Given the description of an element on the screen output the (x, y) to click on. 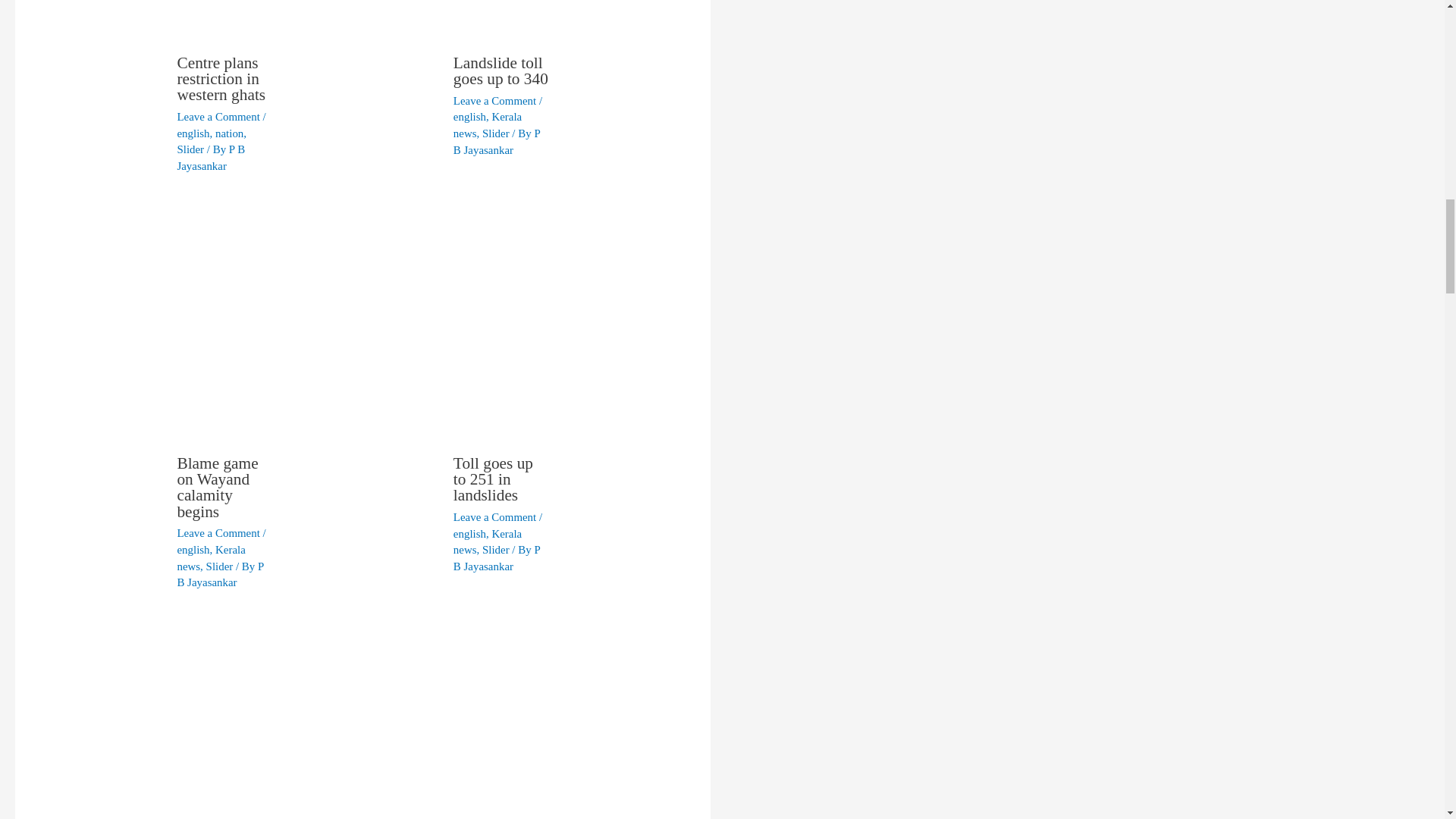
View all posts by P B Jayasankar (219, 574)
View all posts by P B Jayasankar (496, 557)
View all posts by P B Jayasankar (210, 157)
View all posts by P B Jayasankar (496, 141)
